Given the description of an element on the screen output the (x, y) to click on. 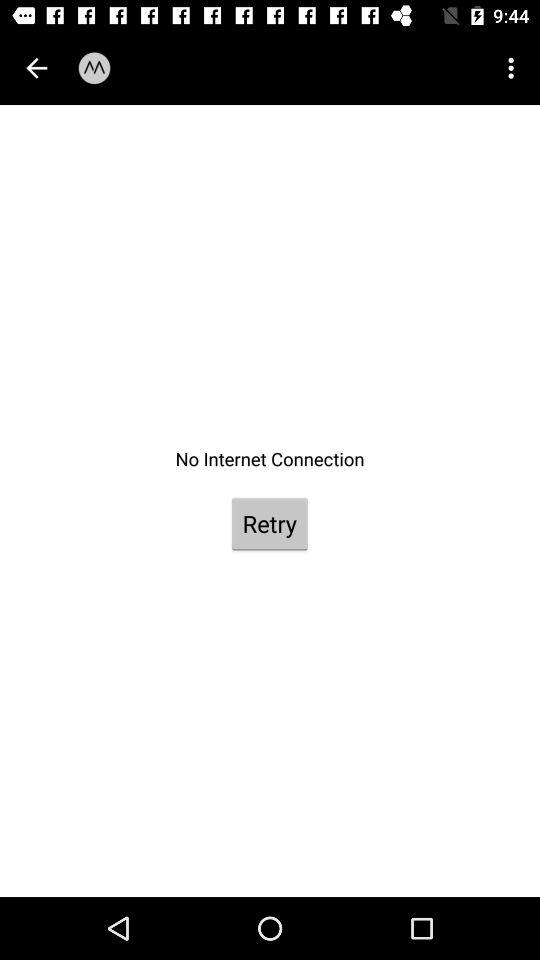
select the retry item (269, 523)
